Given the description of an element on the screen output the (x, y) to click on. 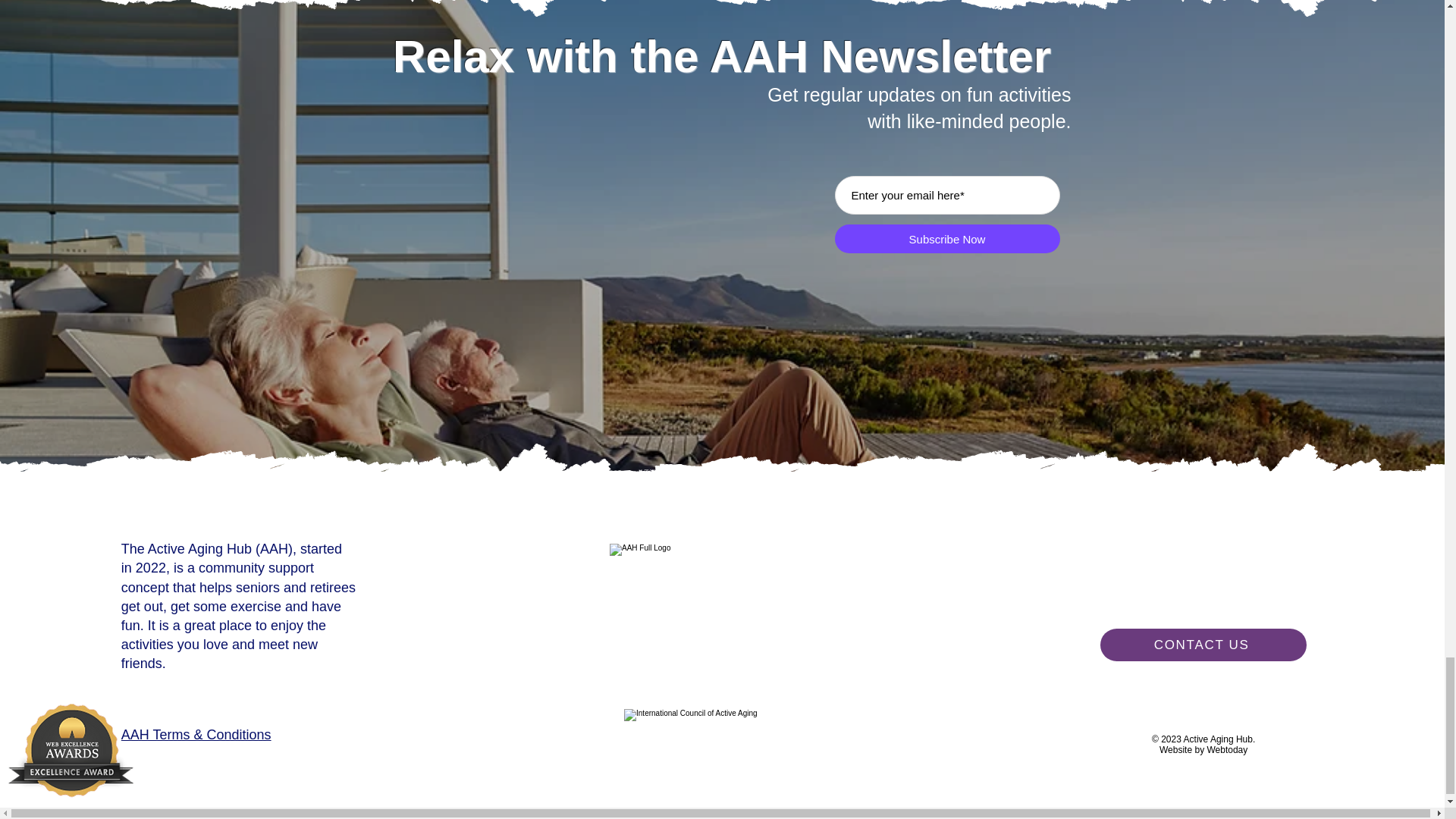
Subscribe Now (946, 238)
